Given the description of an element on the screen output the (x, y) to click on. 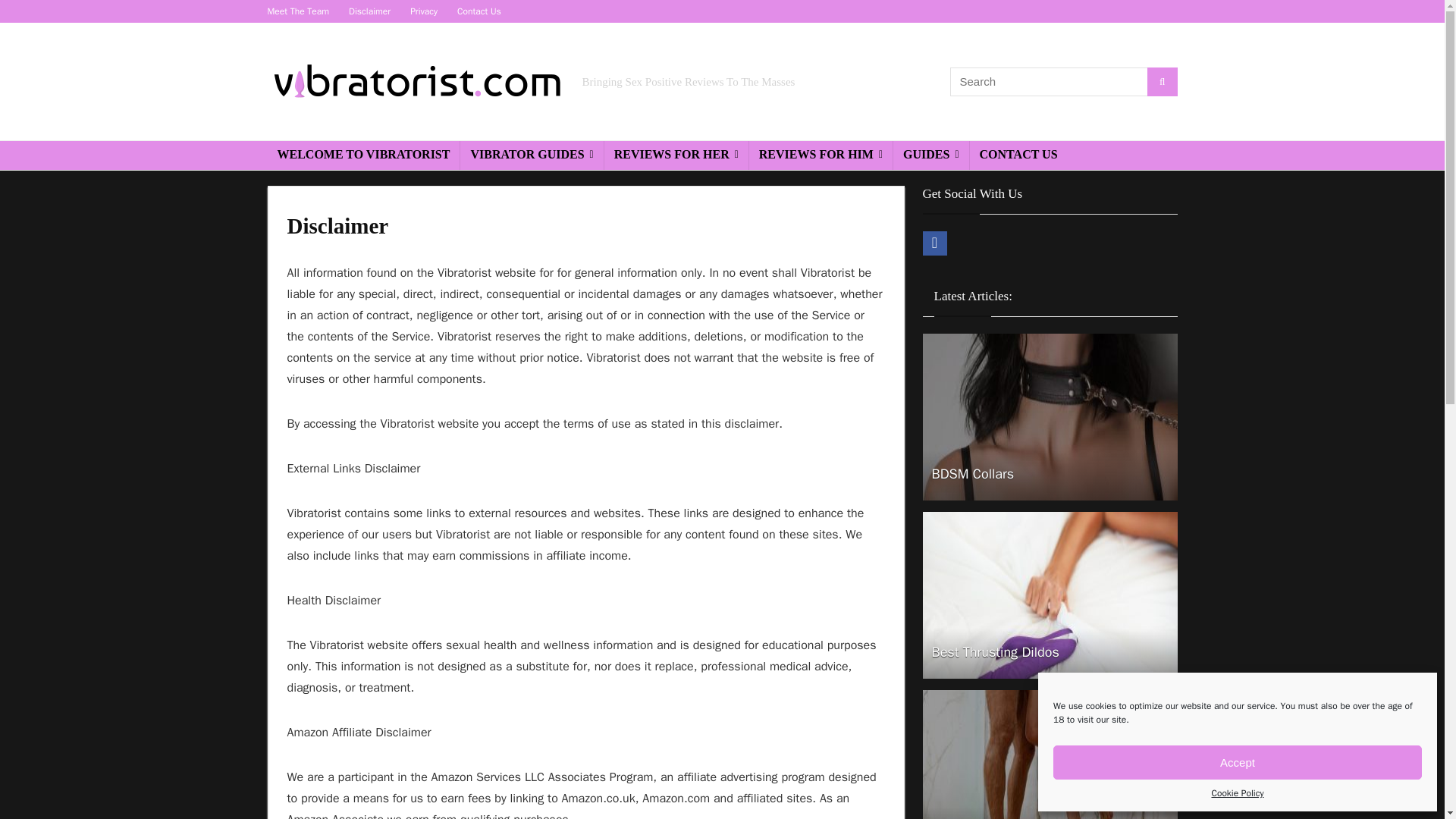
Accept (1237, 762)
Cookie Policy (1237, 793)
Privacy (424, 10)
Disclaimer (369, 10)
Contact Us (478, 10)
REVIEWS FOR HER (676, 154)
Meet The Team (297, 10)
VIBRATOR GUIDES (531, 154)
WELCOME TO VIBRATORIST (363, 154)
